Given the description of an element on the screen output the (x, y) to click on. 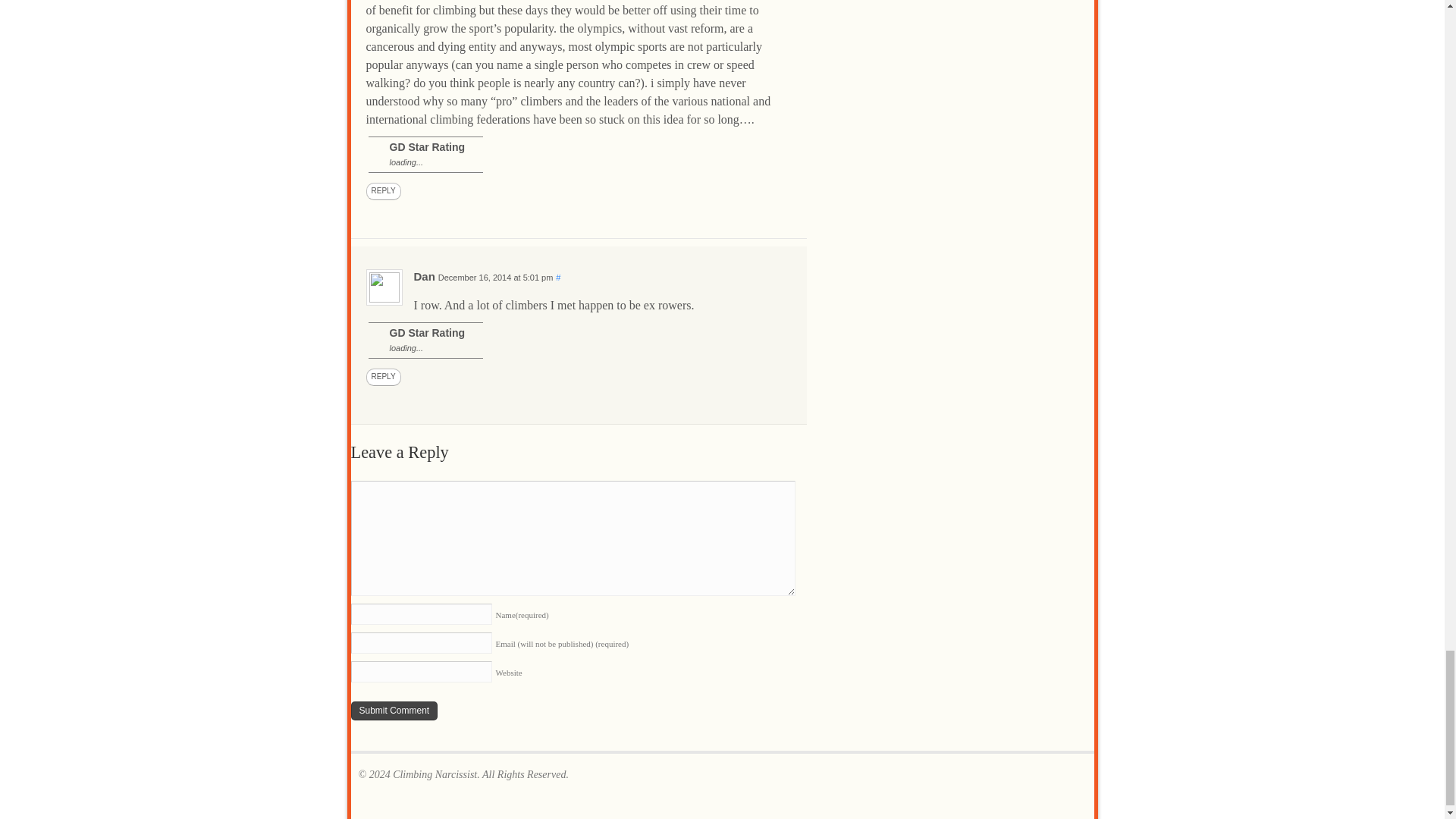
Submit Comment (394, 710)
